Given the description of an element on the screen output the (x, y) to click on. 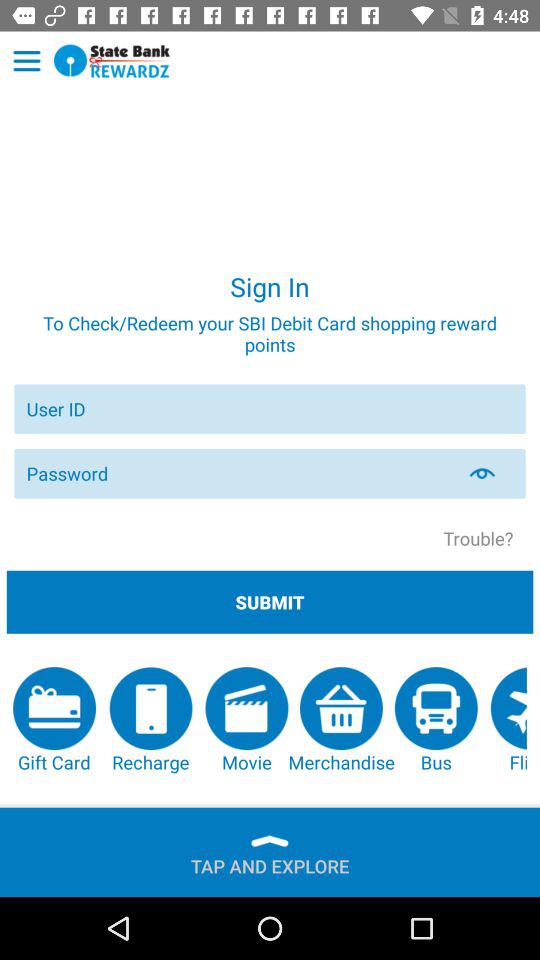
view the password (494, 473)
